Given the description of an element on the screen output the (x, y) to click on. 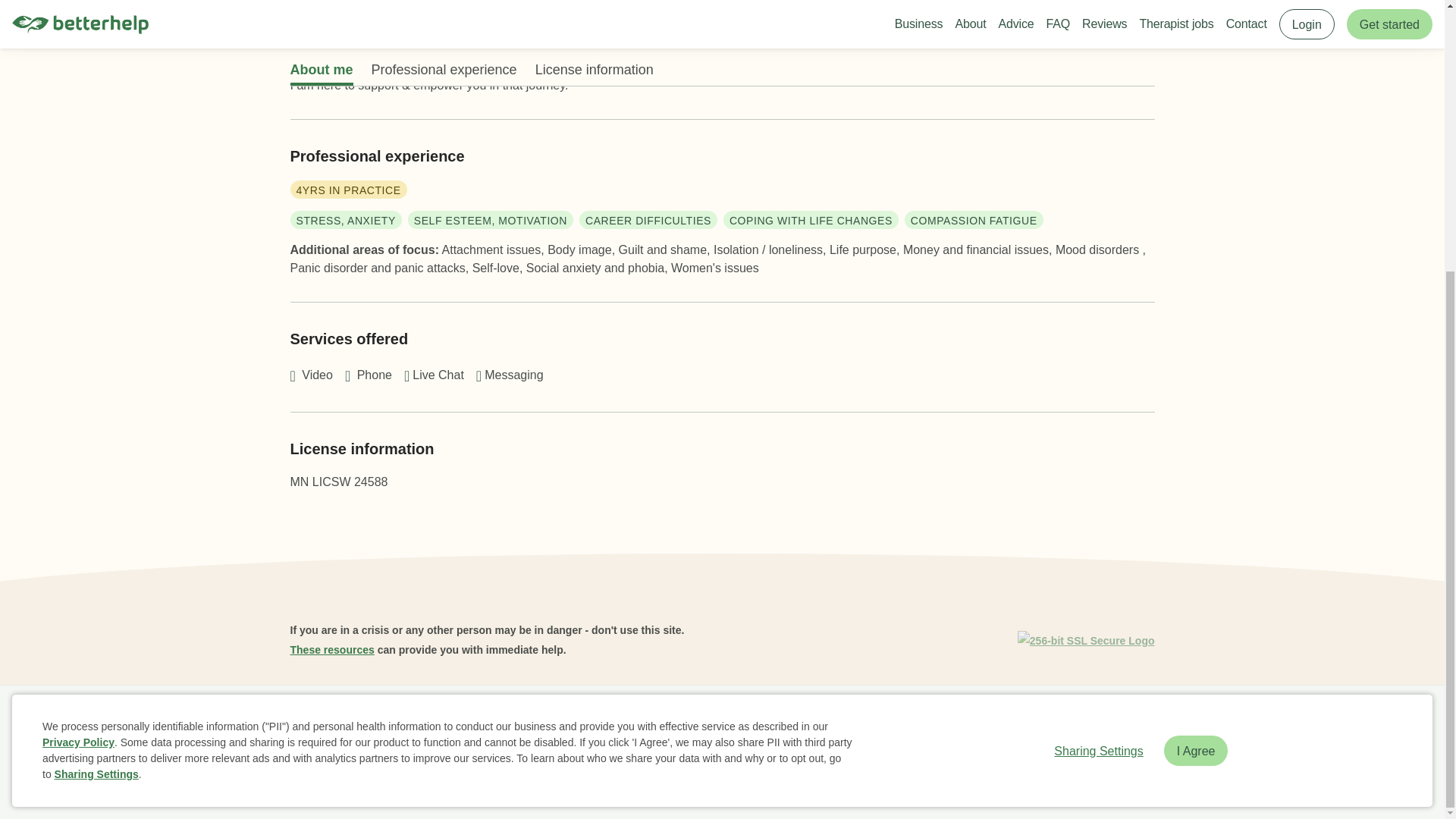
Business (365, 721)
Sharing Settings (96, 376)
Find a Therapist (692, 721)
Contact (857, 721)
Reviews (510, 721)
About (419, 721)
I Agree (1195, 352)
These resources (331, 649)
Privacy Policy (78, 344)
Home (311, 721)
